Given the description of an element on the screen output the (x, y) to click on. 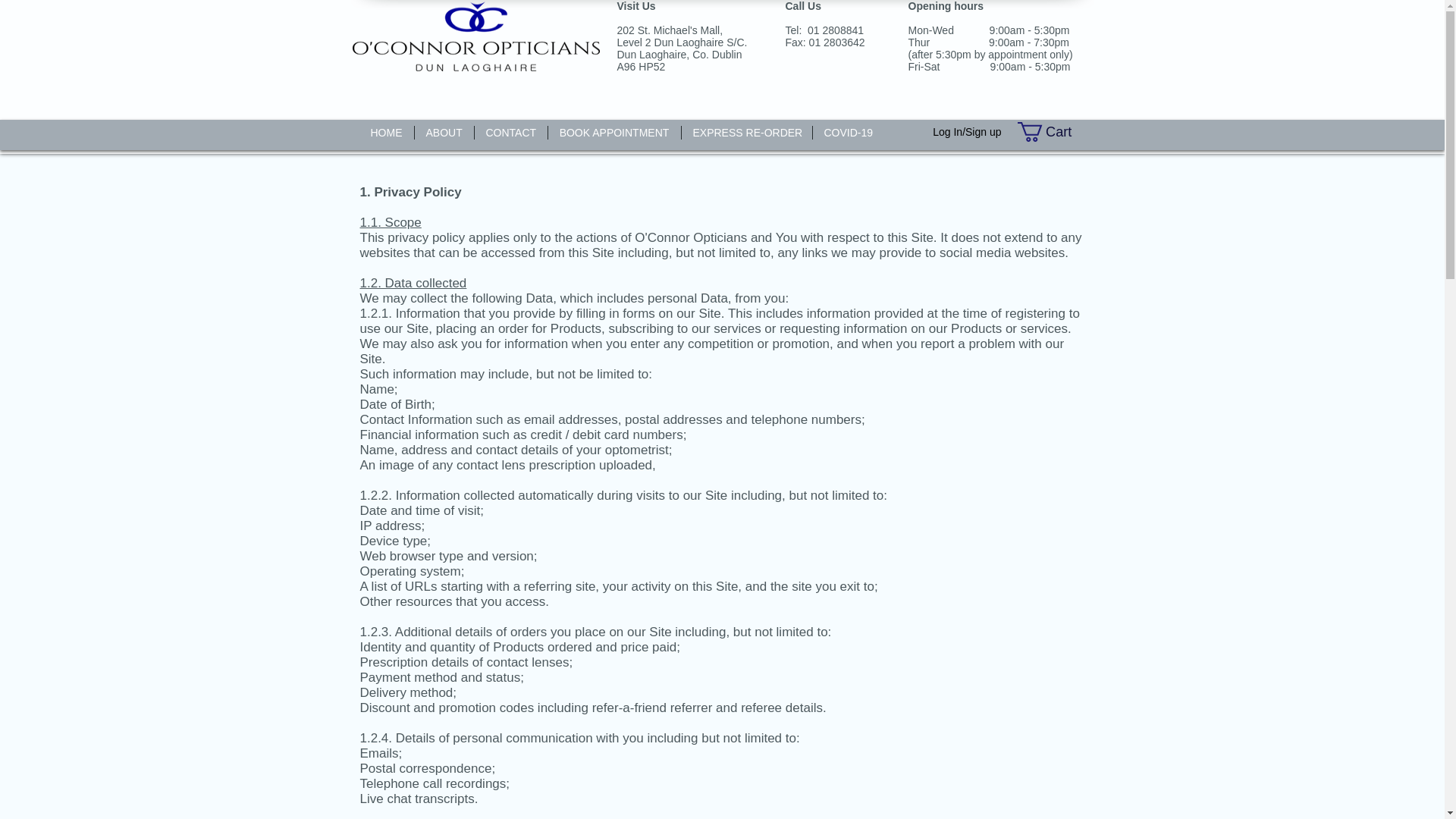
CONTACT (510, 132)
Cart (1054, 131)
ABOUT (443, 132)
BOOK APPOINTMENT (613, 132)
HOME (386, 132)
COVID-19 (847, 132)
OCLogo.png (474, 36)
Cart (1054, 131)
